Given the description of an element on the screen output the (x, y) to click on. 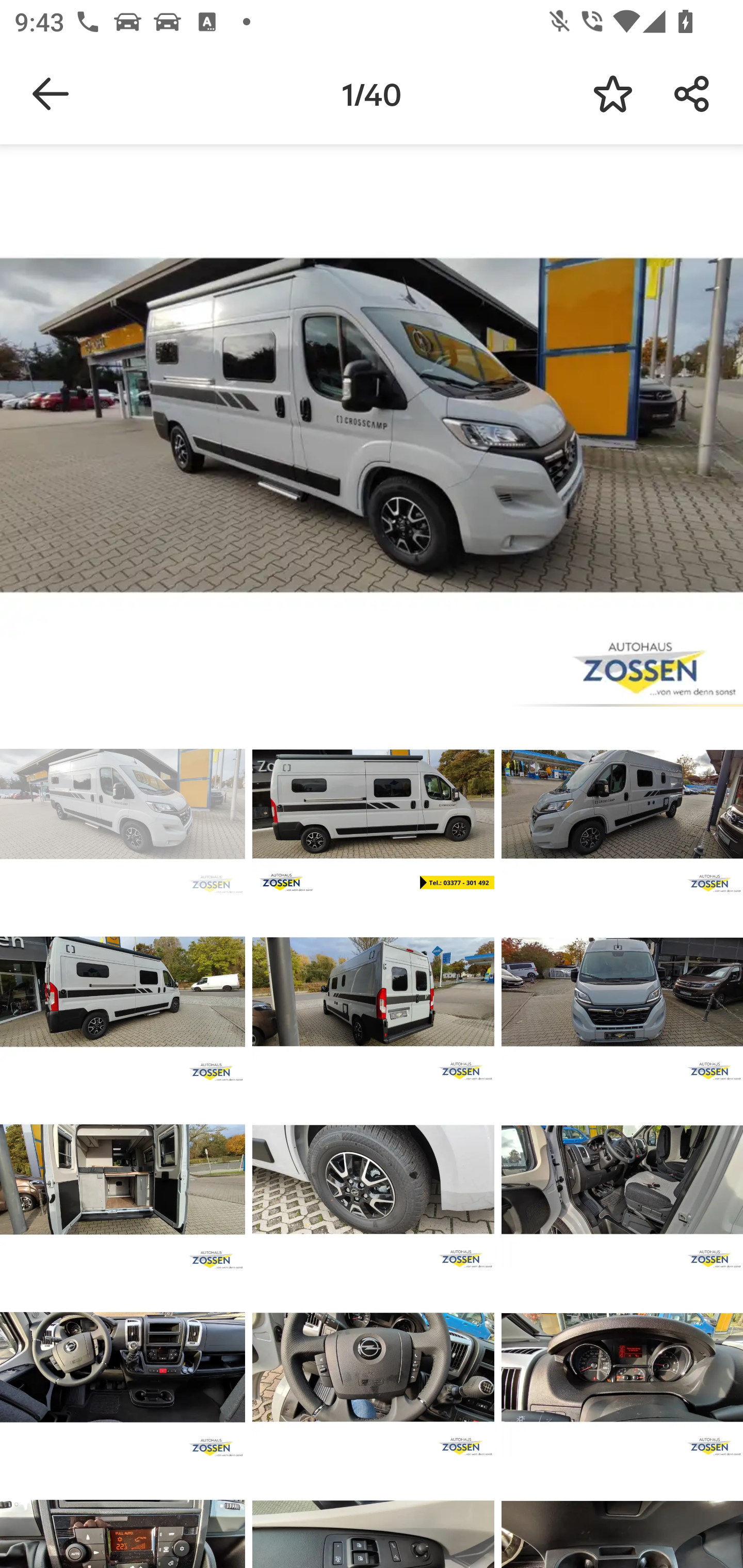
back button (50, 93)
share button (692, 93)
main image view (371, 428)
image (122, 803)
image (373, 803)
image (622, 803)
image (122, 991)
image (373, 991)
image (622, 991)
image (122, 1179)
image (373, 1179)
image (622, 1179)
image (122, 1367)
image (373, 1367)
image (622, 1367)
